Given the description of an element on the screen output the (x, y) to click on. 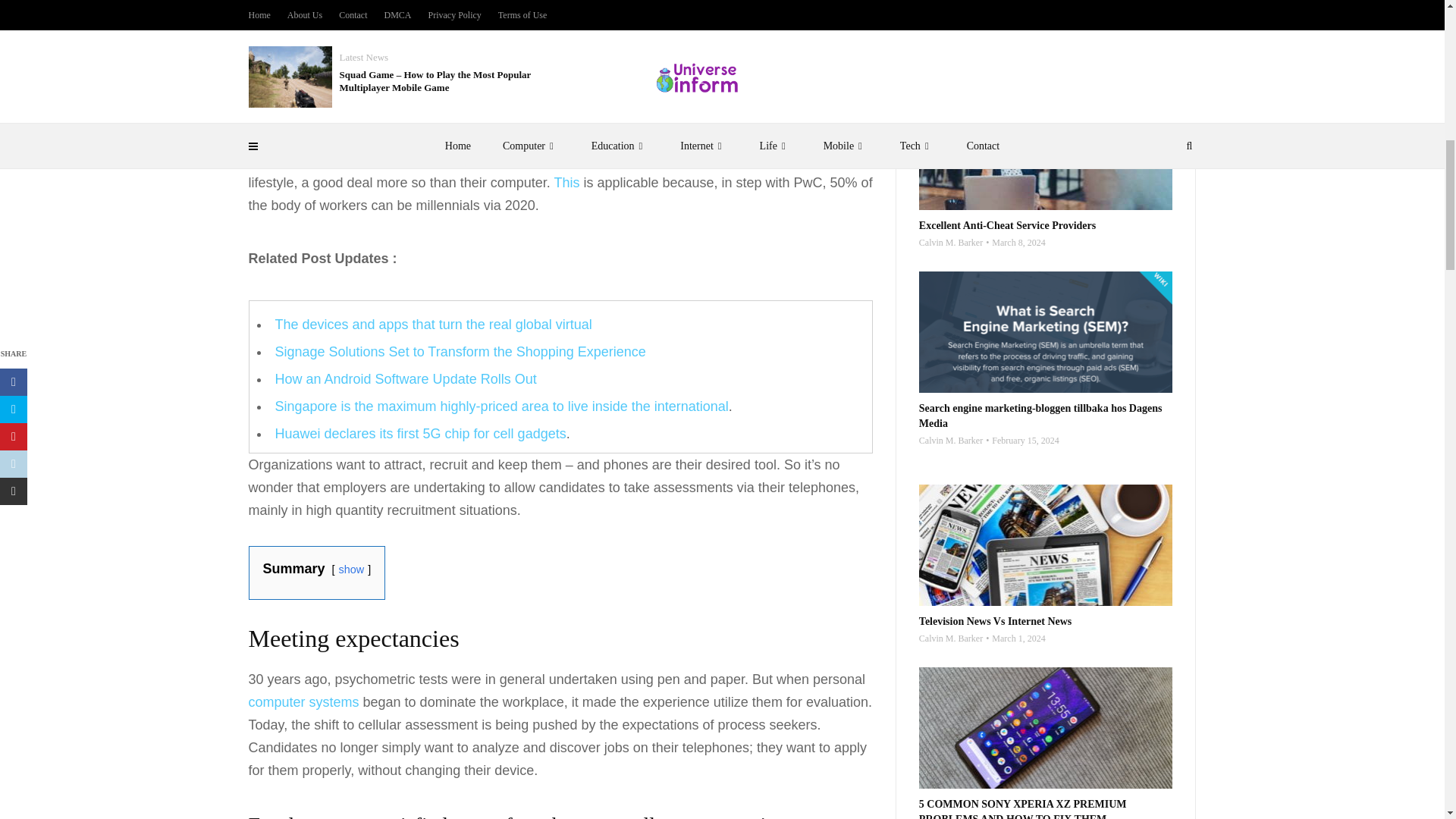
Excellent Anti-Cheat Service Providers 12 (1045, 148)
Television News Vs Internet News 14 (1045, 545)
Search engine marketing-bloggen tillbaka hos Dagens Media 13 (1045, 332)
